Given the description of an element on the screen output the (x, y) to click on. 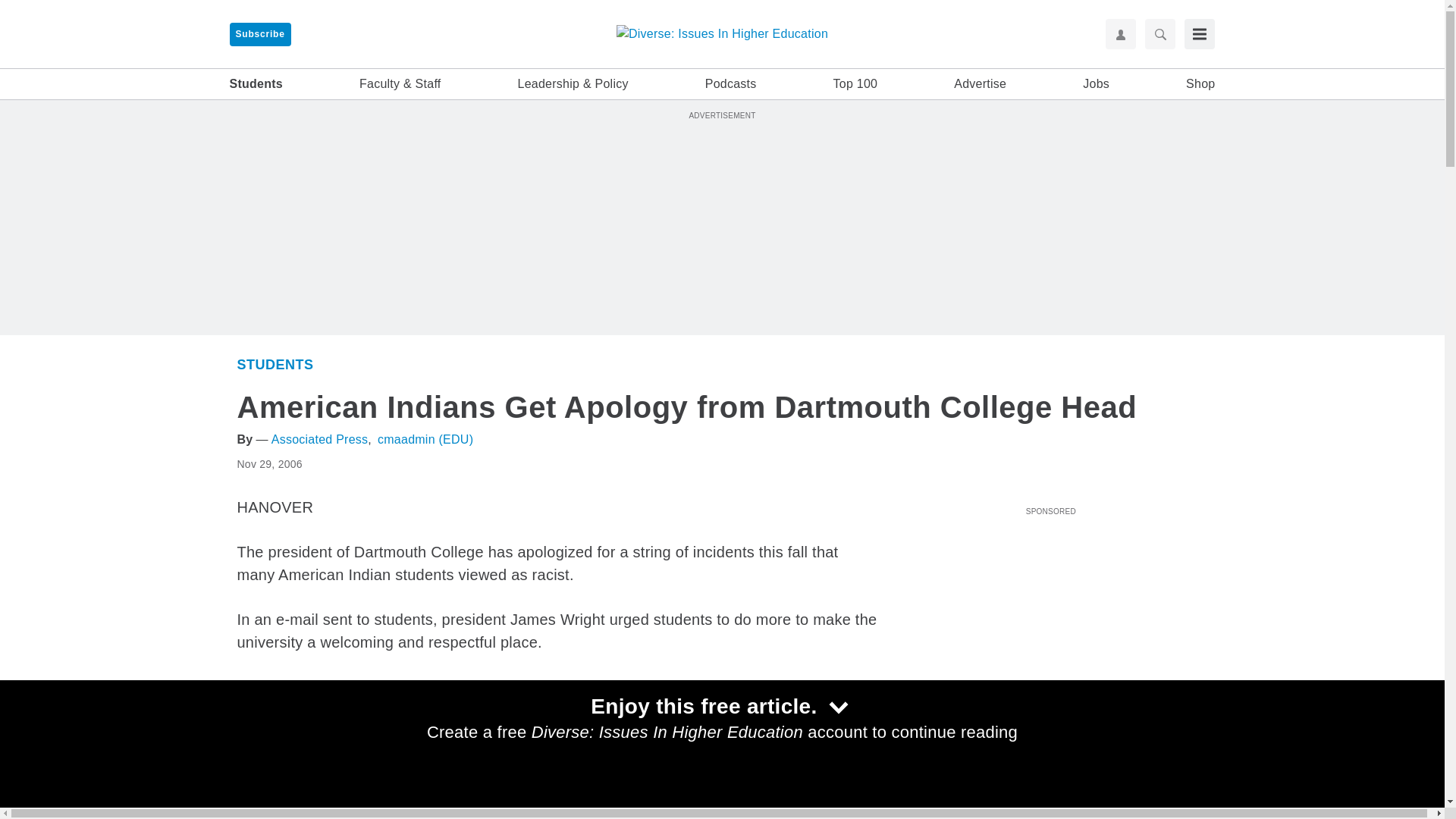
Jobs (1096, 84)
Students (923, 777)
Podcasts (730, 84)
Students (255, 84)
Subscribe (258, 33)
Youtube Player (1050, 606)
Advertise (979, 84)
Top 100 (854, 84)
Subscribe (258, 33)
Students (274, 364)
